Given the description of an element on the screen output the (x, y) to click on. 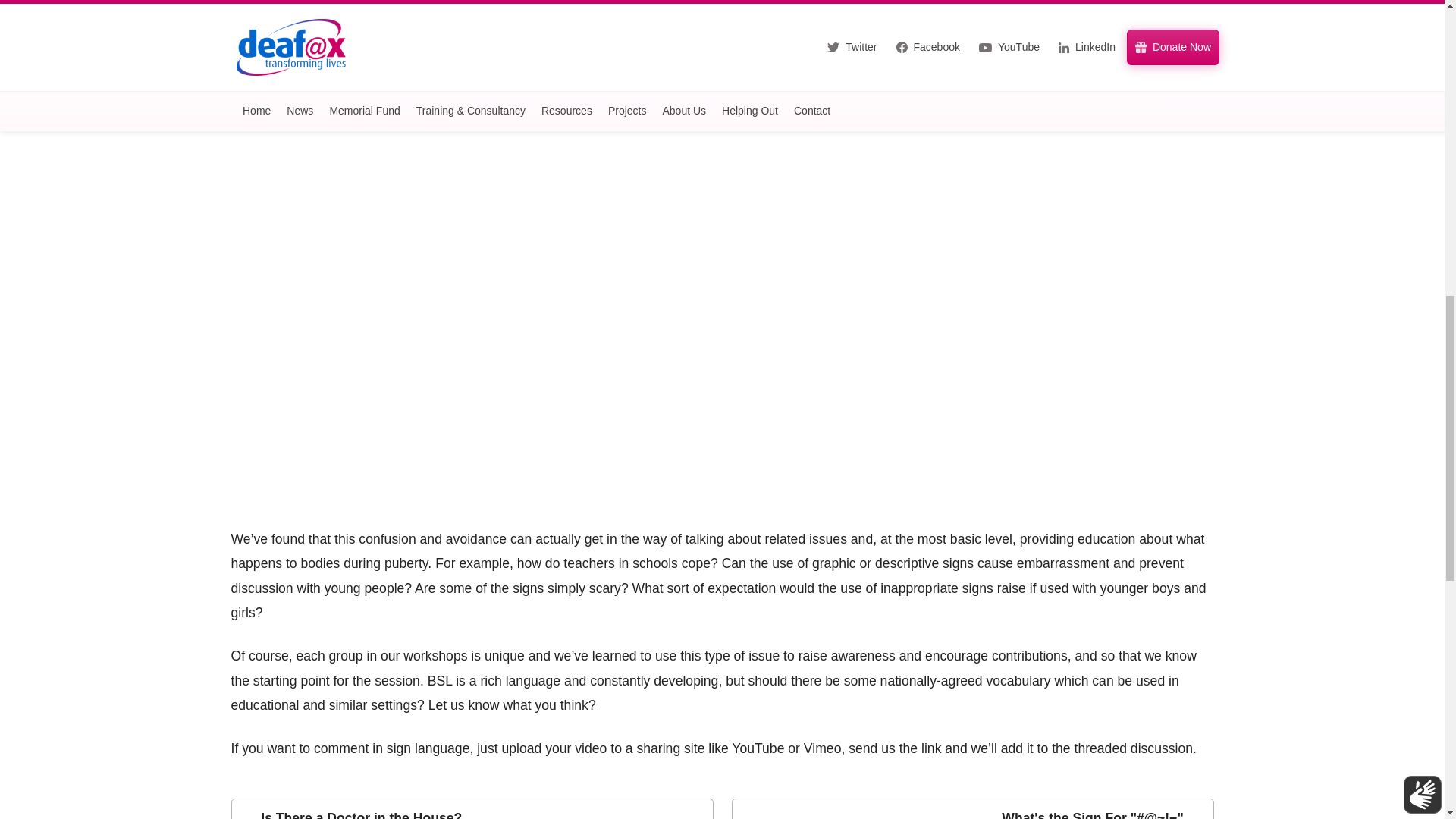
YouTube Video (471, 808)
